Given the description of an element on the screen output the (x, y) to click on. 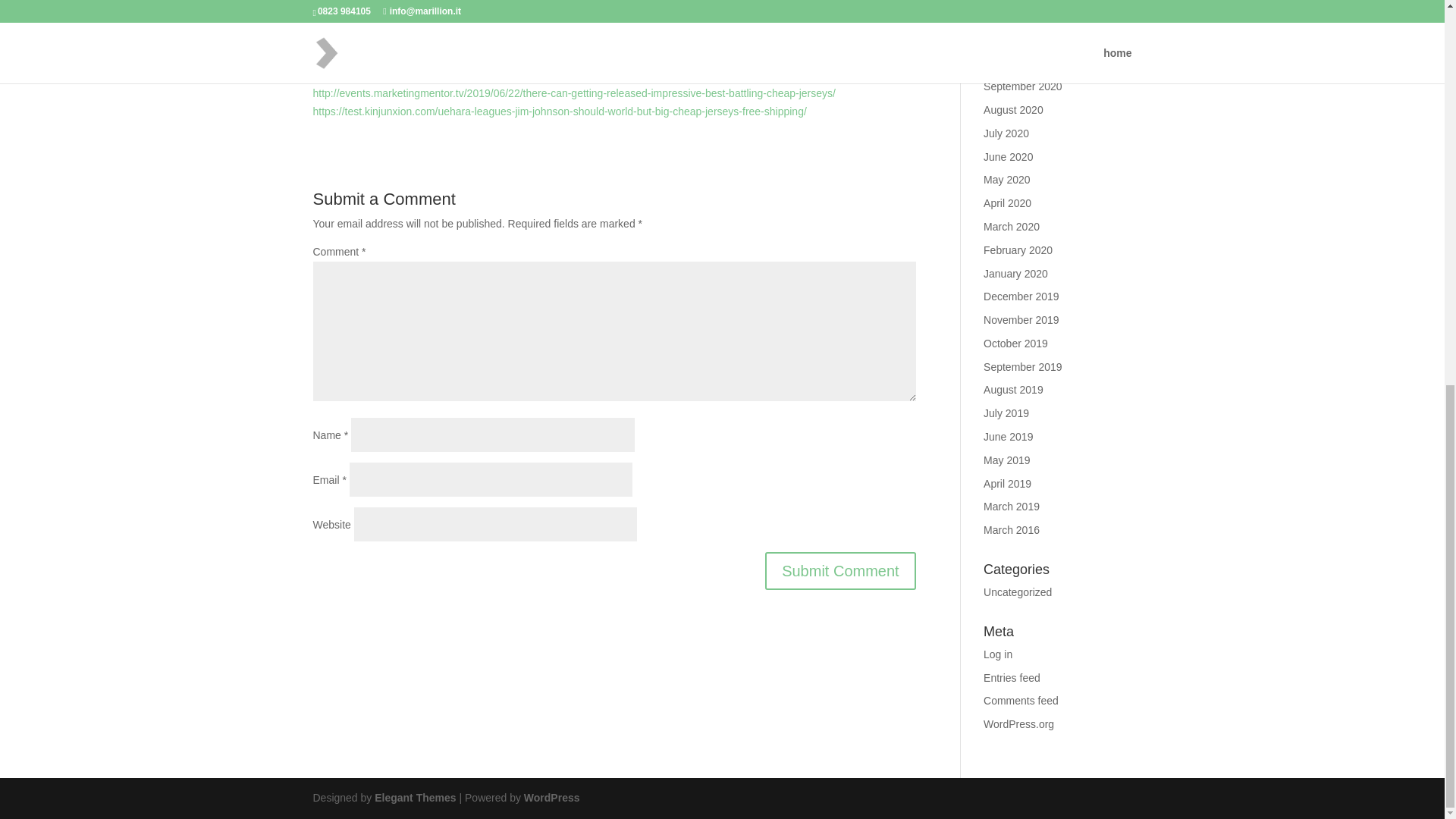
August 2020 (1013, 110)
October 2020 (1016, 62)
Submit Comment (840, 570)
December 2020 (1021, 16)
November 2020 (1021, 39)
Submit Comment (840, 570)
Premium WordPress Themes (414, 797)
July 2020 (1006, 133)
September 2020 (1023, 86)
